Given the description of an element on the screen output the (x, y) to click on. 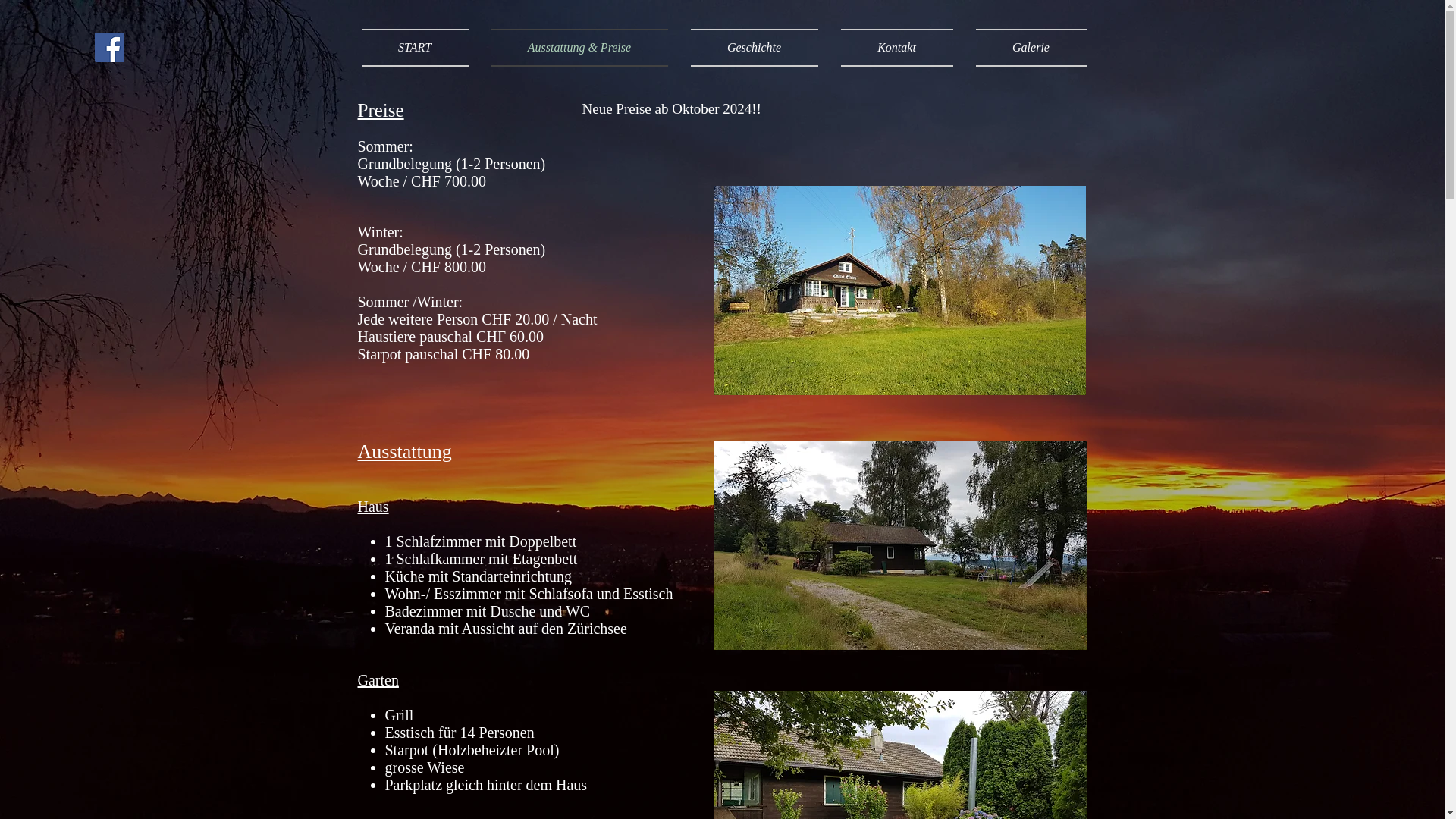
Galerie Element type: text (1025, 47)
Geschichte Element type: text (754, 47)
START Element type: text (419, 47)
Kontakt Element type: text (896, 47)
Ausstattung & Preise Element type: text (578, 47)
